Given the description of an element on the screen output the (x, y) to click on. 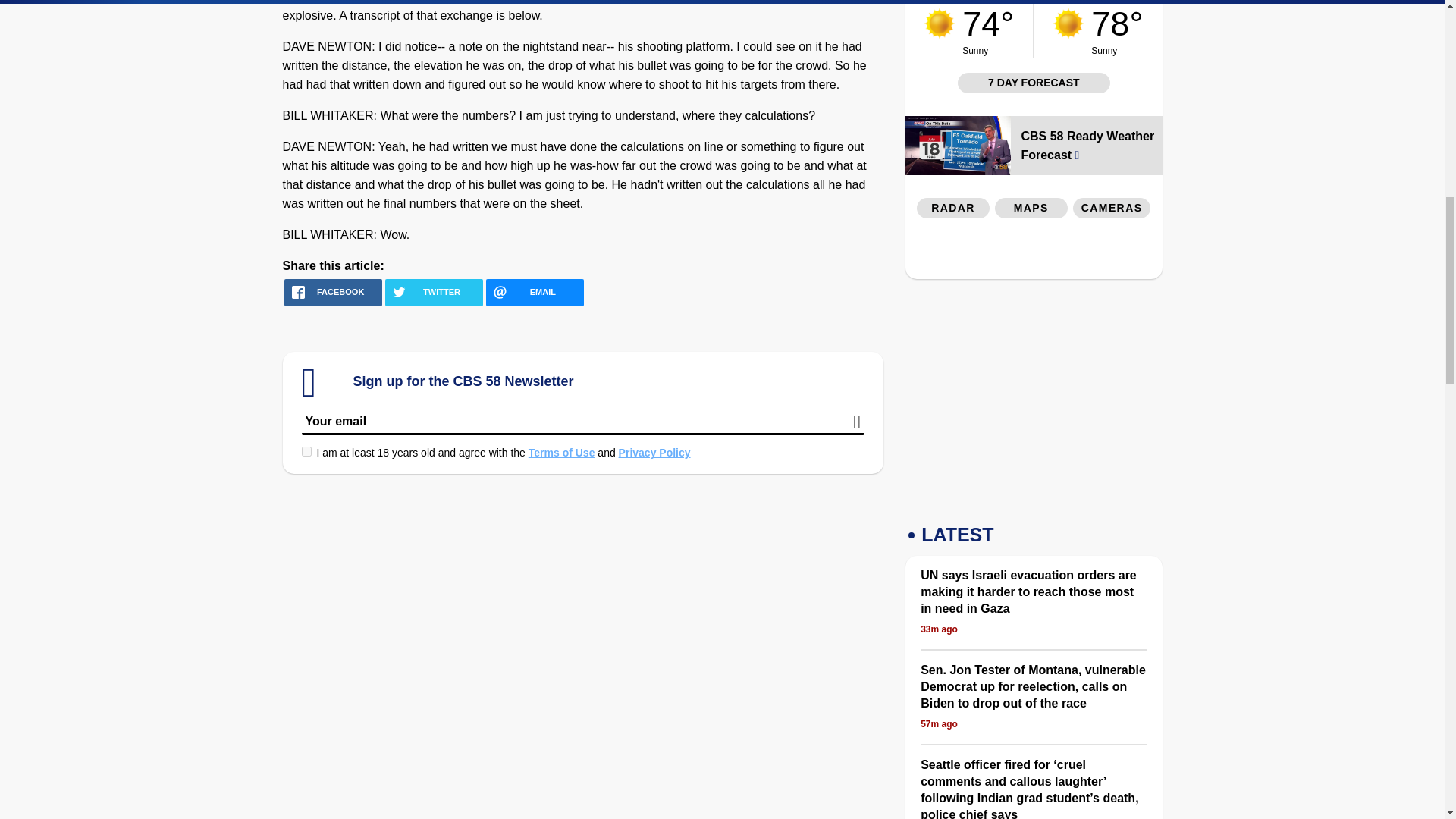
weather (987, 28)
3rd party ad content (1034, 252)
3rd party ad content (1033, 396)
on (306, 451)
weather (939, 23)
weather (1067, 23)
weather (1118, 28)
